Given the description of an element on the screen output the (x, y) to click on. 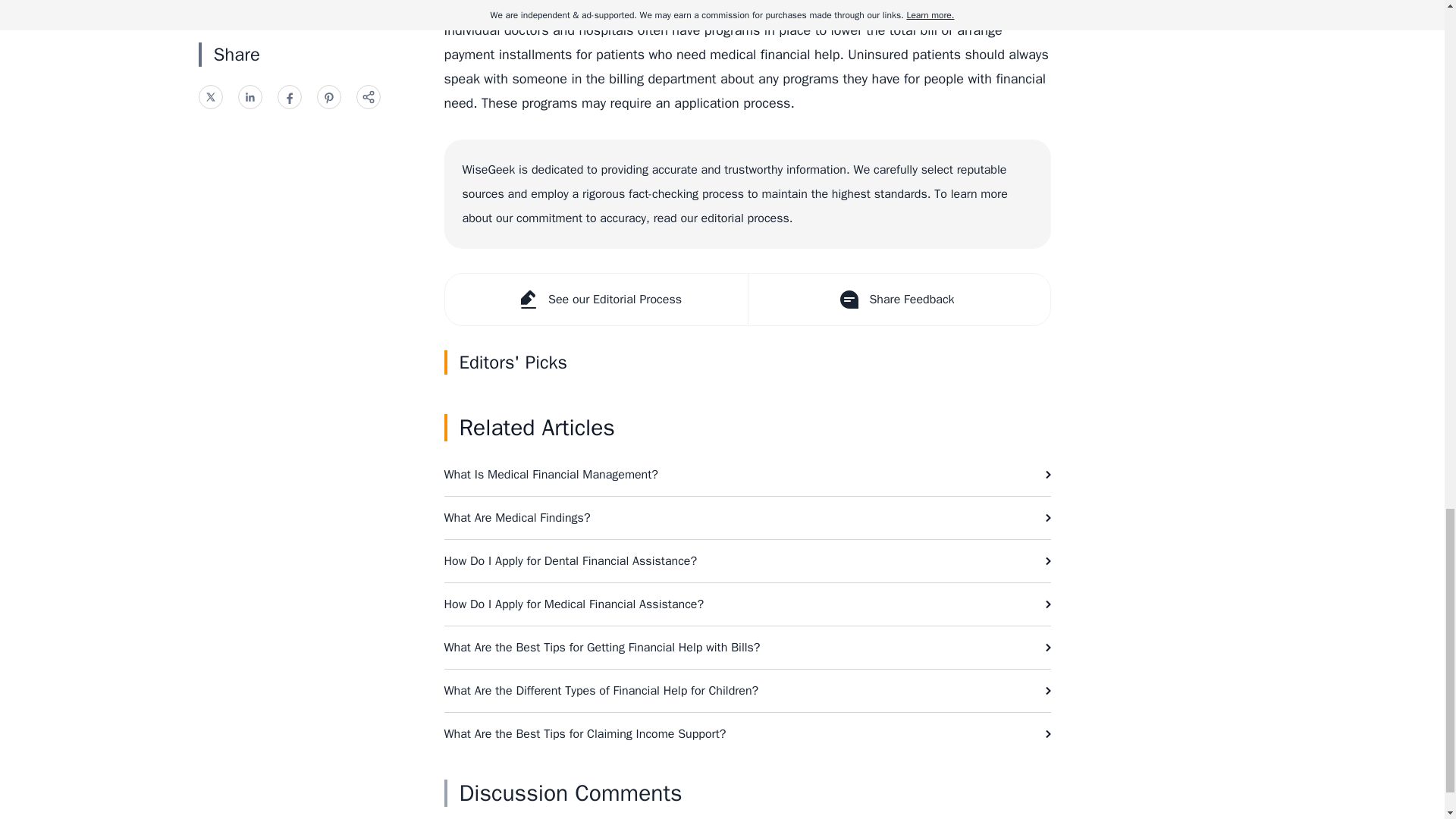
See our Editorial Process (595, 299)
What Are Medical Findings? (747, 517)
How Do I Apply for Dental Financial Assistance? (747, 560)
How Do I Apply for Medical Financial Assistance? (747, 604)
What Is Medical Financial Management? (747, 474)
Share Feedback (898, 299)
